Given the description of an element on the screen output the (x, y) to click on. 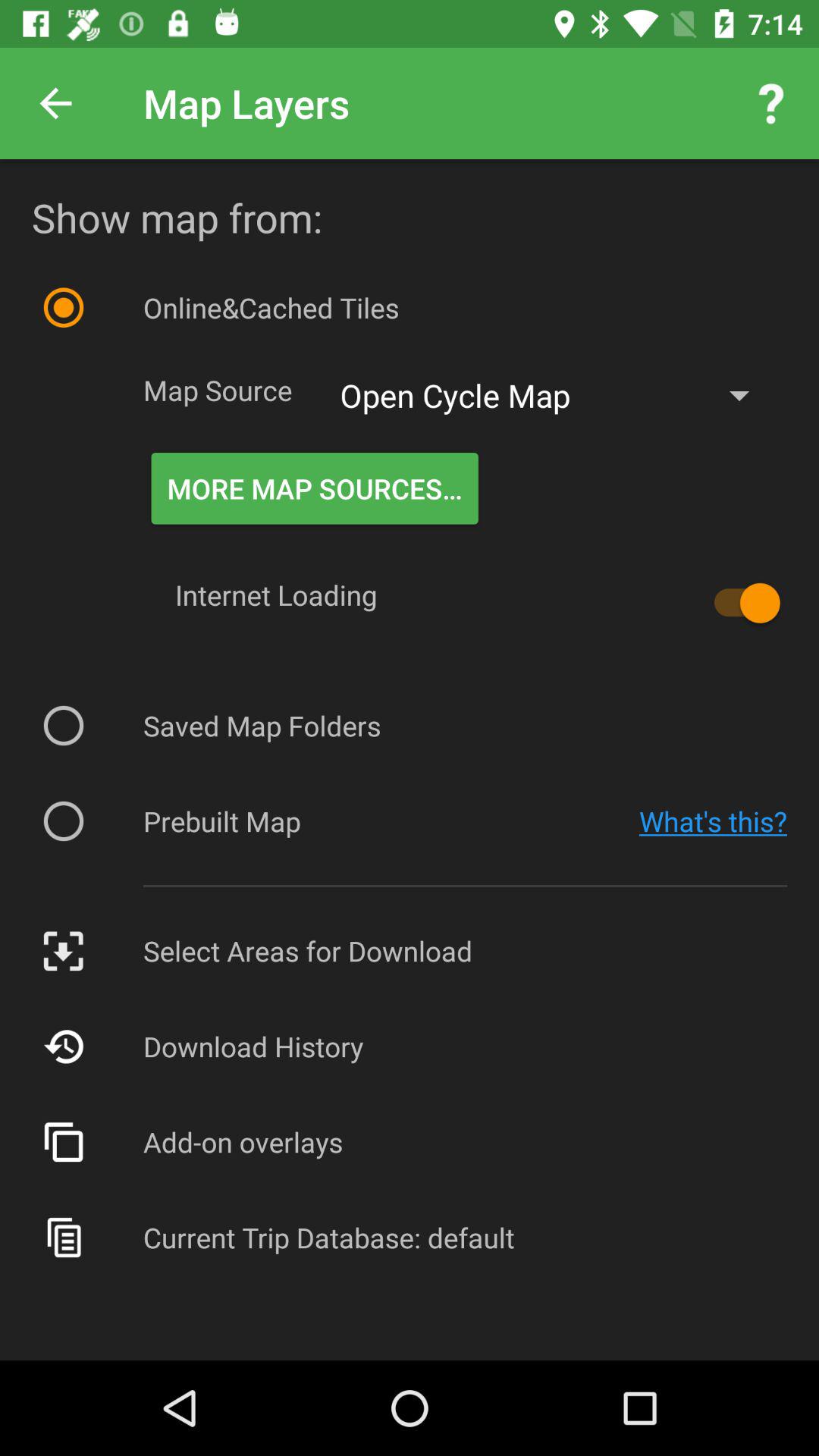
press the item above what's this? item (739, 603)
